Given the description of an element on the screen output the (x, y) to click on. 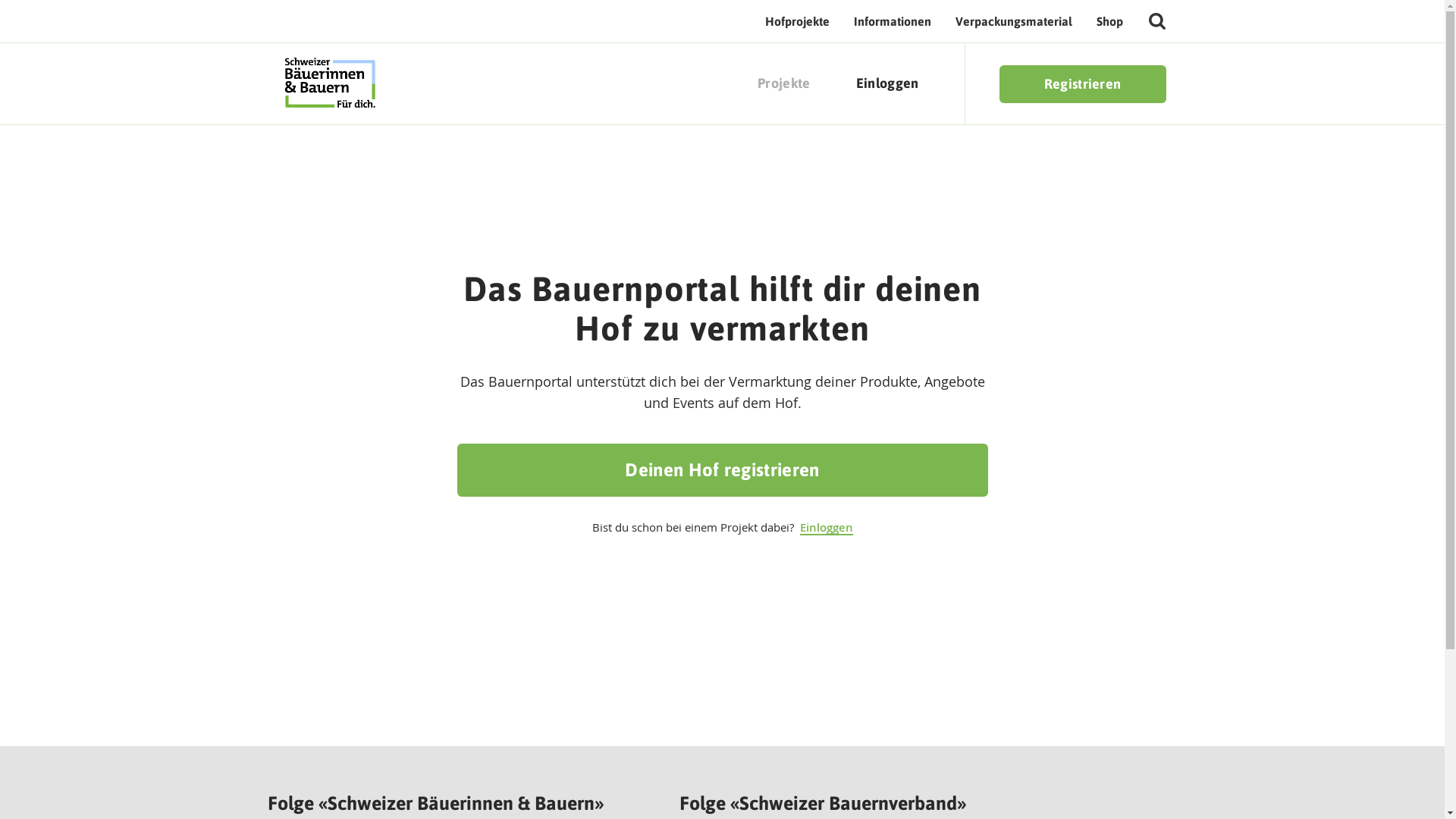
Hofprojekte Element type: text (796, 21)
Deinen Hof registrieren Element type: text (721, 469)
Shop Element type: text (1109, 21)
Projekte Element type: text (783, 83)
Registrieren Element type: text (1082, 84)
Einloggen Element type: text (825, 527)
Verpackungsmaterial Element type: text (1013, 21)
Einloggen Element type: text (887, 83)
Informationen Element type: text (892, 21)
